Given the description of an element on the screen output the (x, y) to click on. 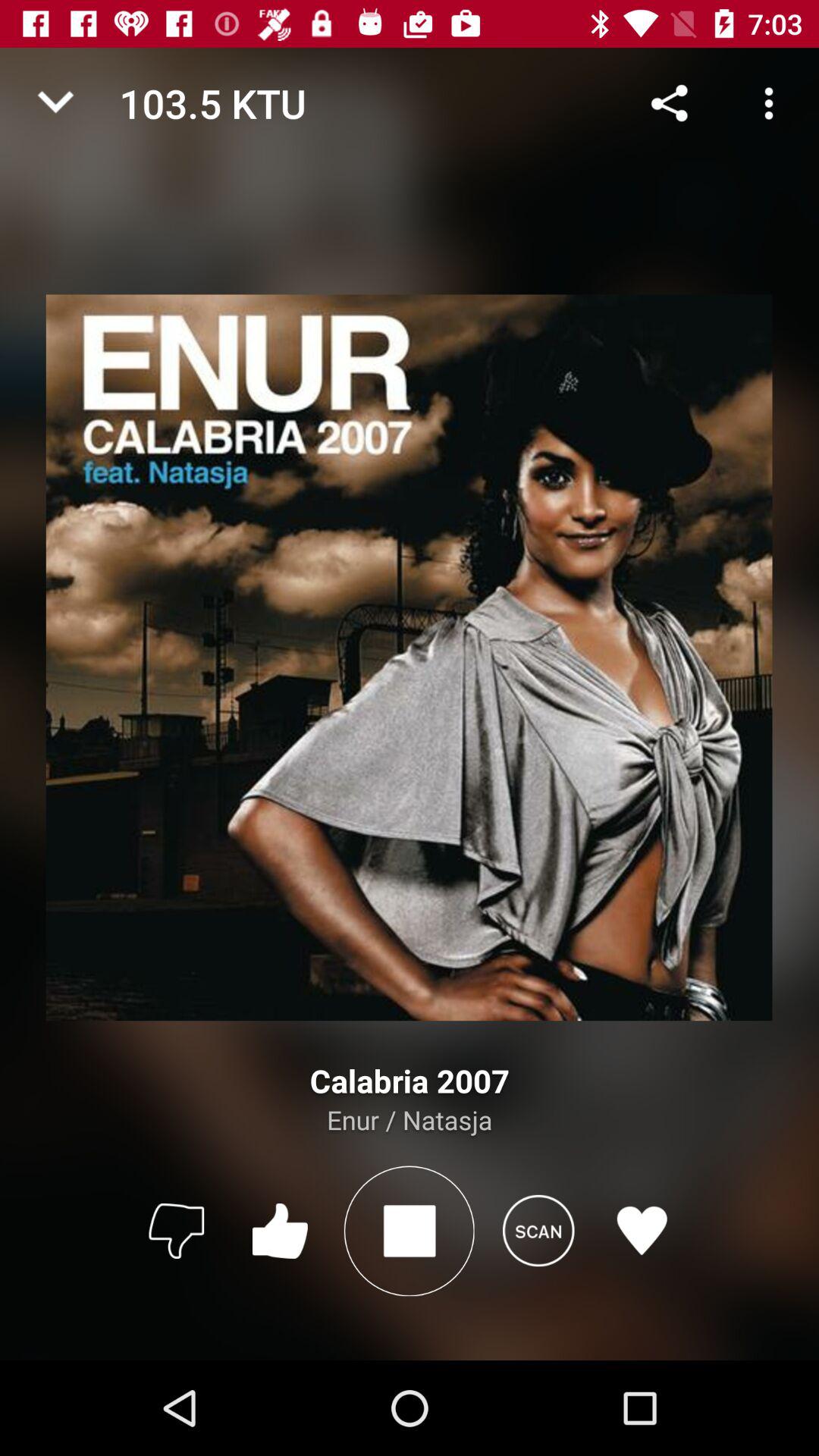
select the text beside dropdown button (305, 103)
